Given the description of an element on the screen output the (x, y) to click on. 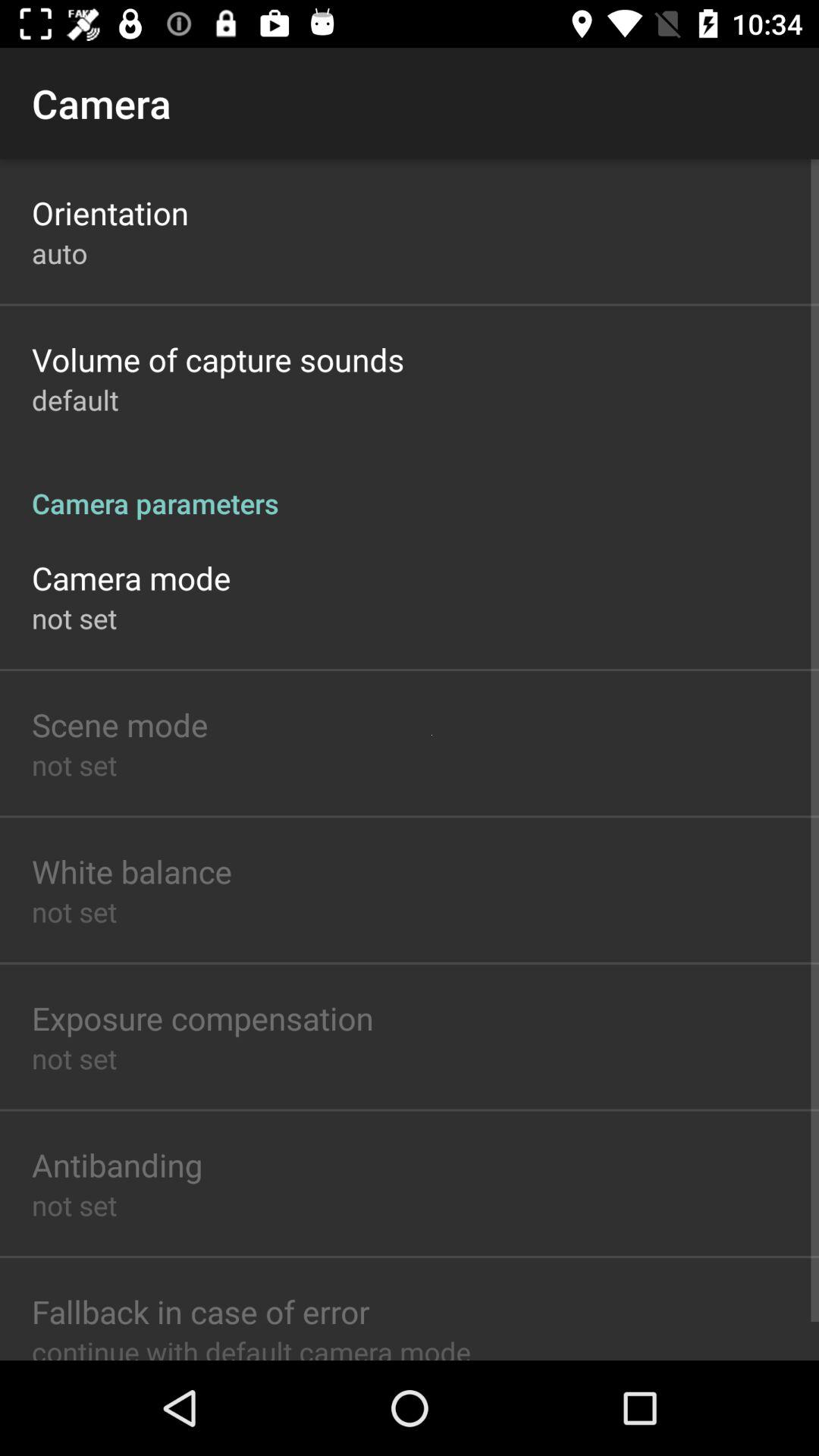
swipe to antibanding icon (116, 1164)
